Given the description of an element on the screen output the (x, y) to click on. 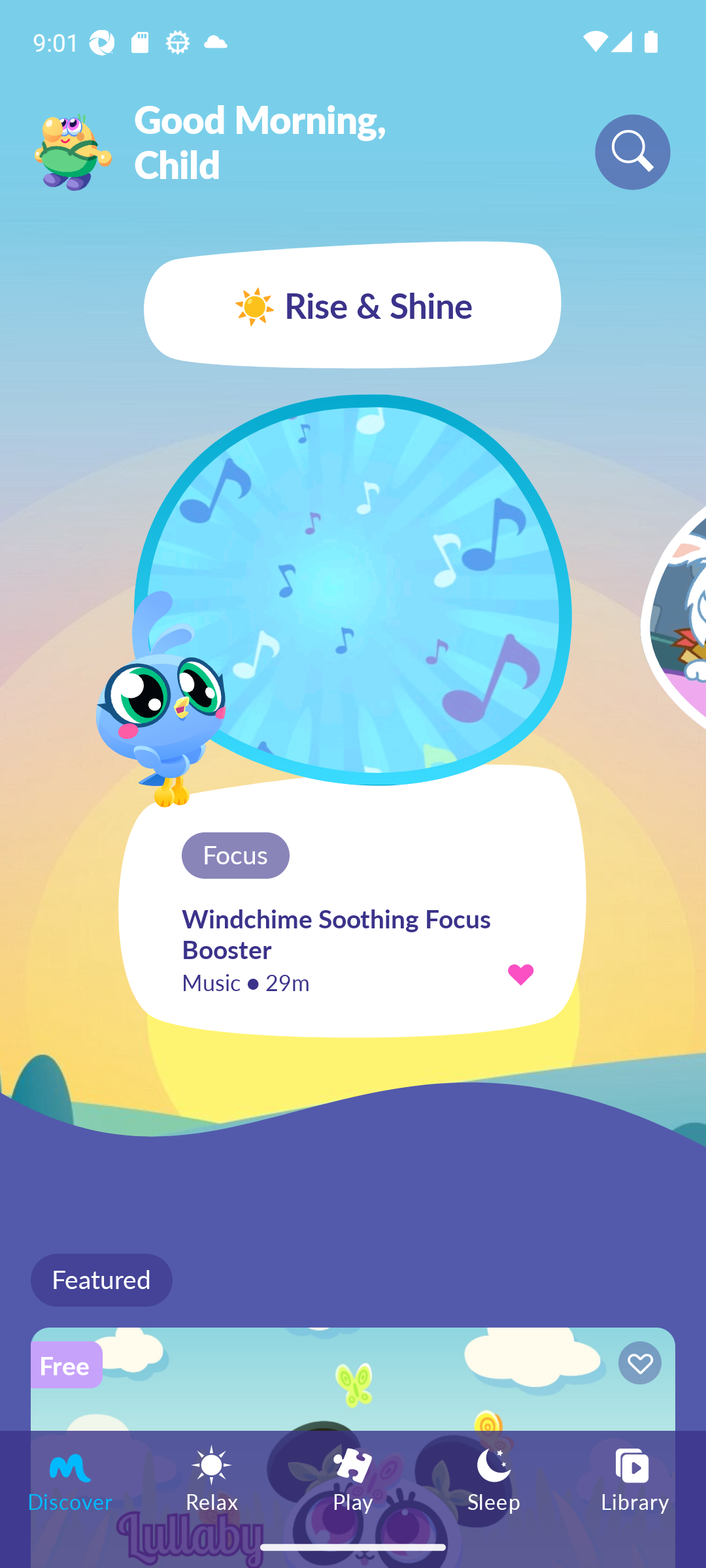
Search (632, 151)
action (520, 973)
Button (636, 1365)
Relax (211, 1478)
Play (352, 1478)
Sleep (493, 1478)
Library (635, 1478)
